Given the description of an element on the screen output the (x, y) to click on. 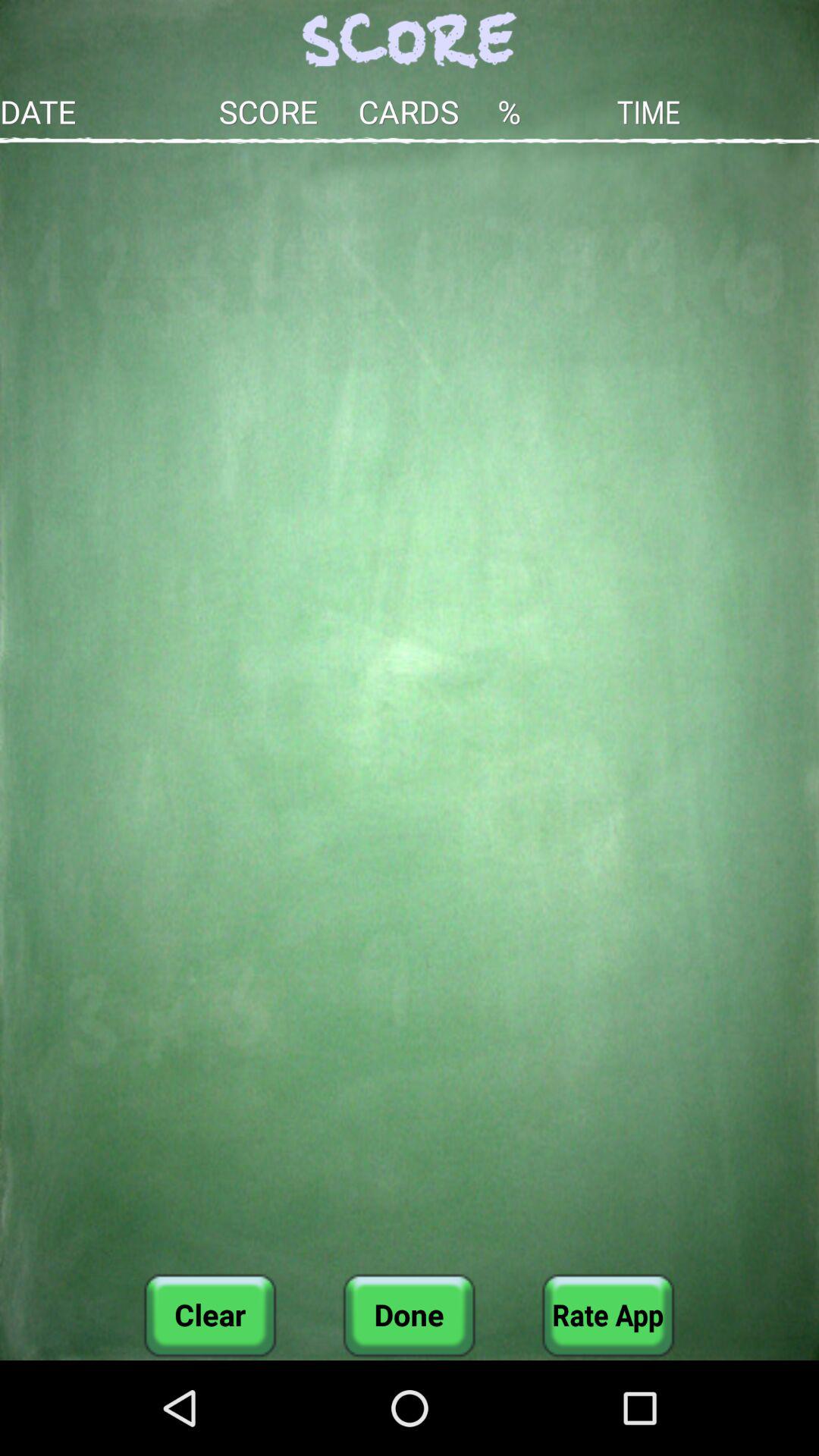
tap button to the left of done button (209, 1315)
